Given the description of an element on the screen output the (x, y) to click on. 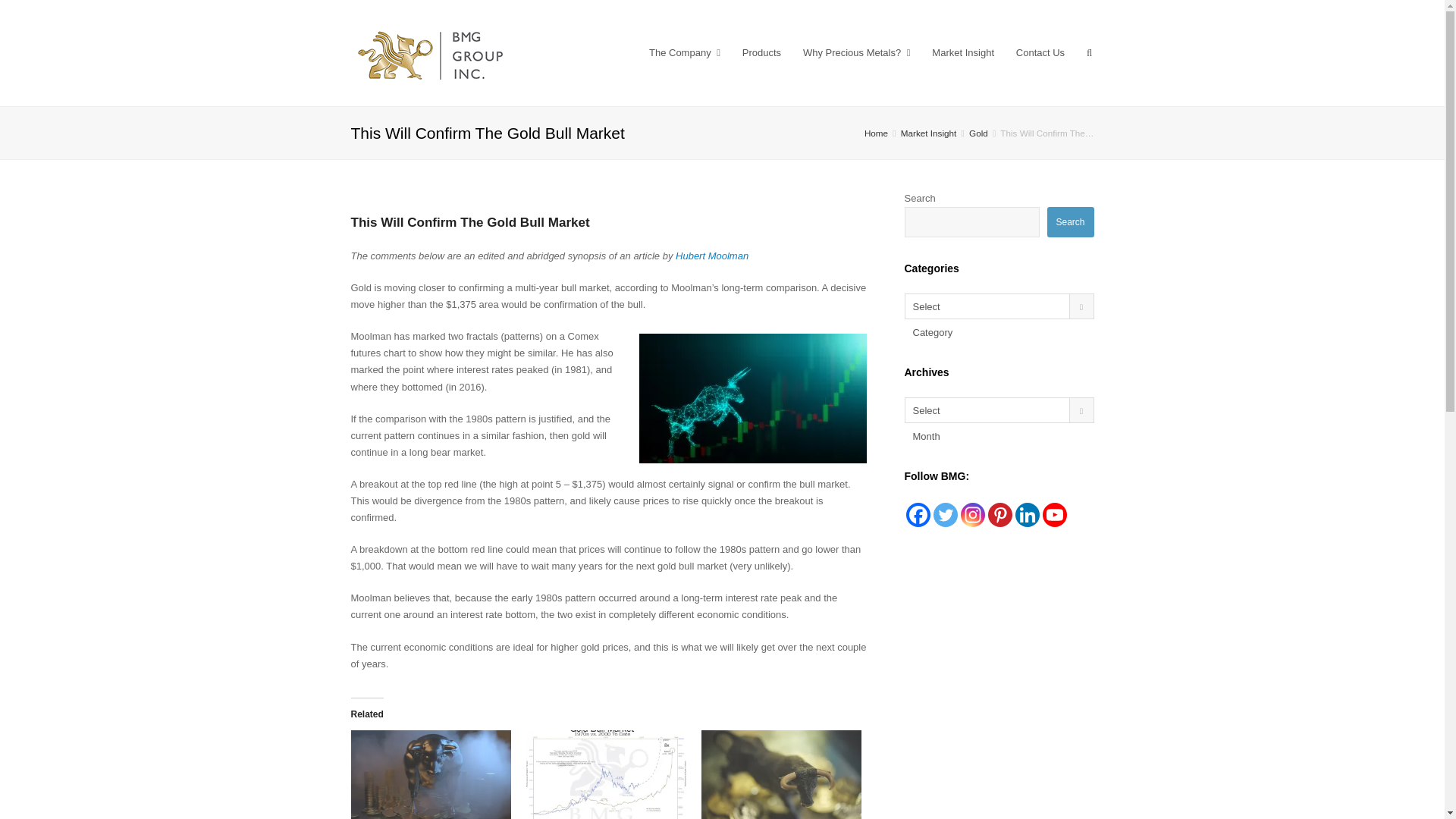
Pinterest (999, 514)
Search (1070, 222)
Market Insight (928, 132)
Products (761, 53)
Gold (978, 132)
Market Insight (962, 53)
BMG (876, 132)
Instagram (971, 514)
Facebook (917, 514)
Hubert Moolman (711, 255)
